Given the description of an element on the screen output the (x, y) to click on. 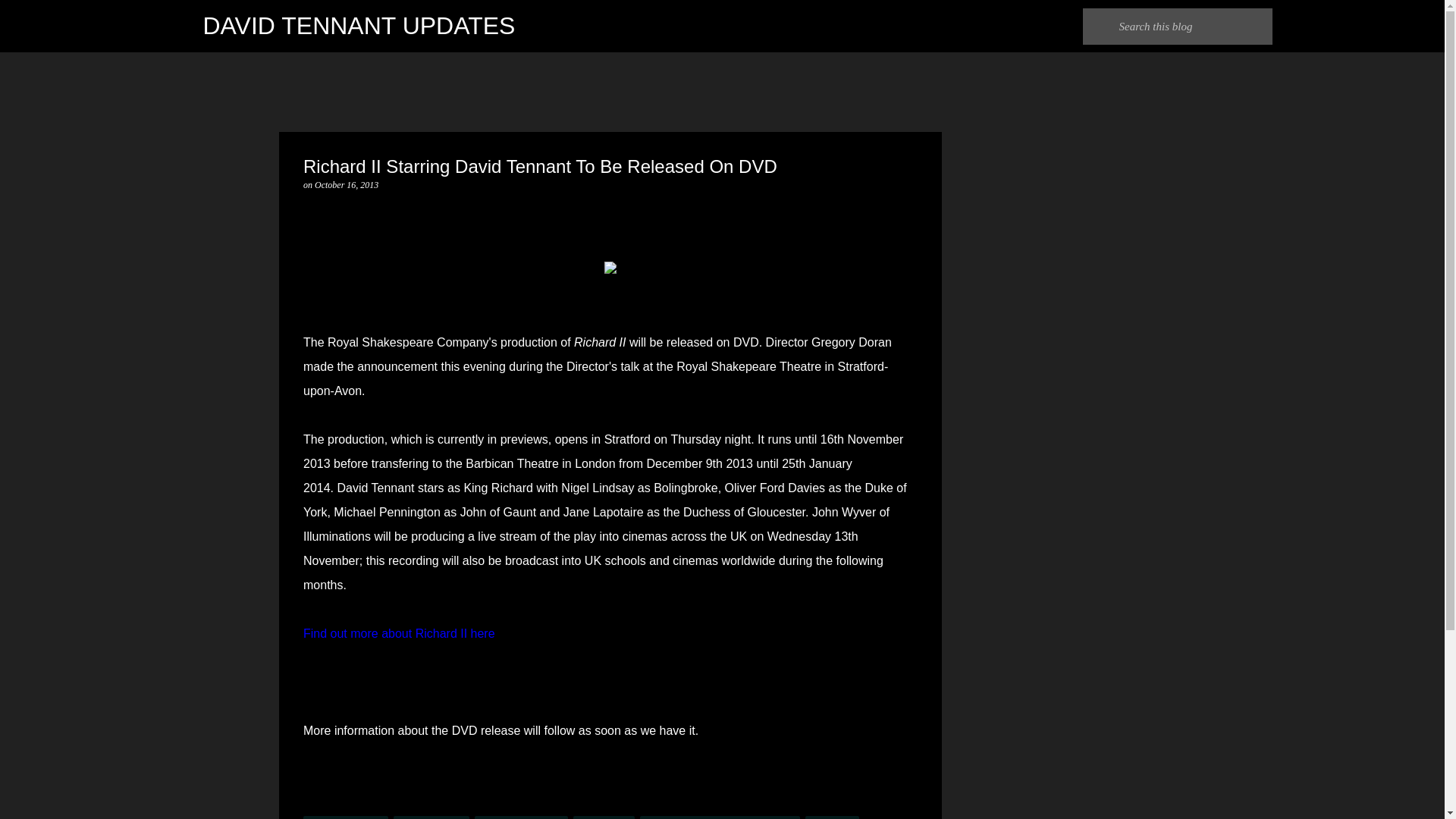
THEATRE (832, 817)
Find out more about Richard II here (398, 633)
GREGORY DORAN (521, 817)
DAVID TENNANT UPDATES (359, 25)
Email Post (311, 806)
permanent link (346, 184)
RICHARD II (603, 817)
ROYAL SHAKESPEARE COMPANY (719, 817)
DAVID TENNANT (345, 817)
DVD RELEASE (430, 817)
October 16, 2013 (346, 184)
